Given the description of an element on the screen output the (x, y) to click on. 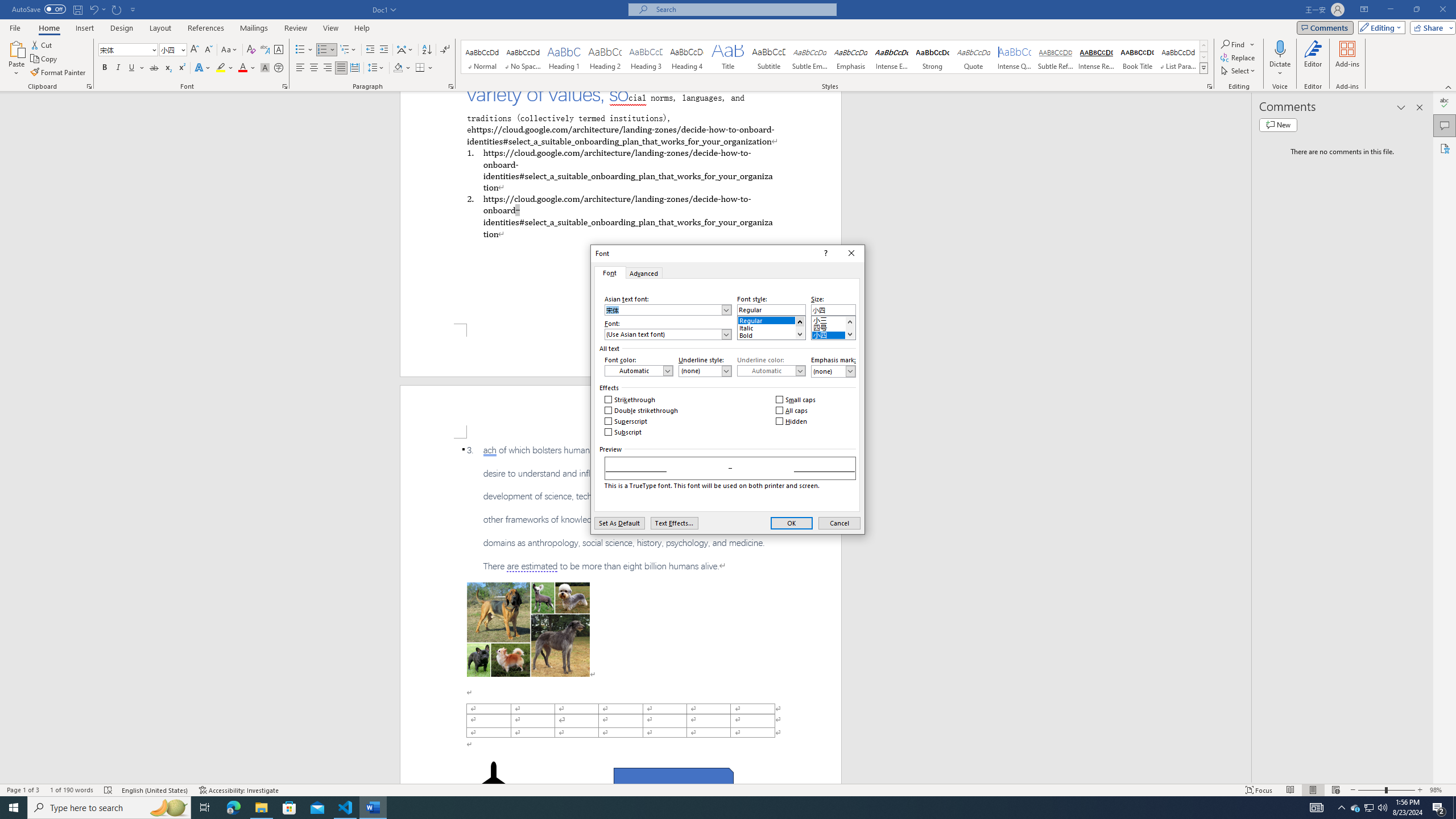
Multilevel List (347, 49)
Small caps (796, 399)
Italic (771, 326)
Visual Studio Code - 1 running window (345, 807)
Character Shading (264, 67)
Subscript (1355, 807)
User Promoted Notification Area (623, 431)
Text Highlight Color Yellow (1368, 807)
